Given the description of an element on the screen output the (x, y) to click on. 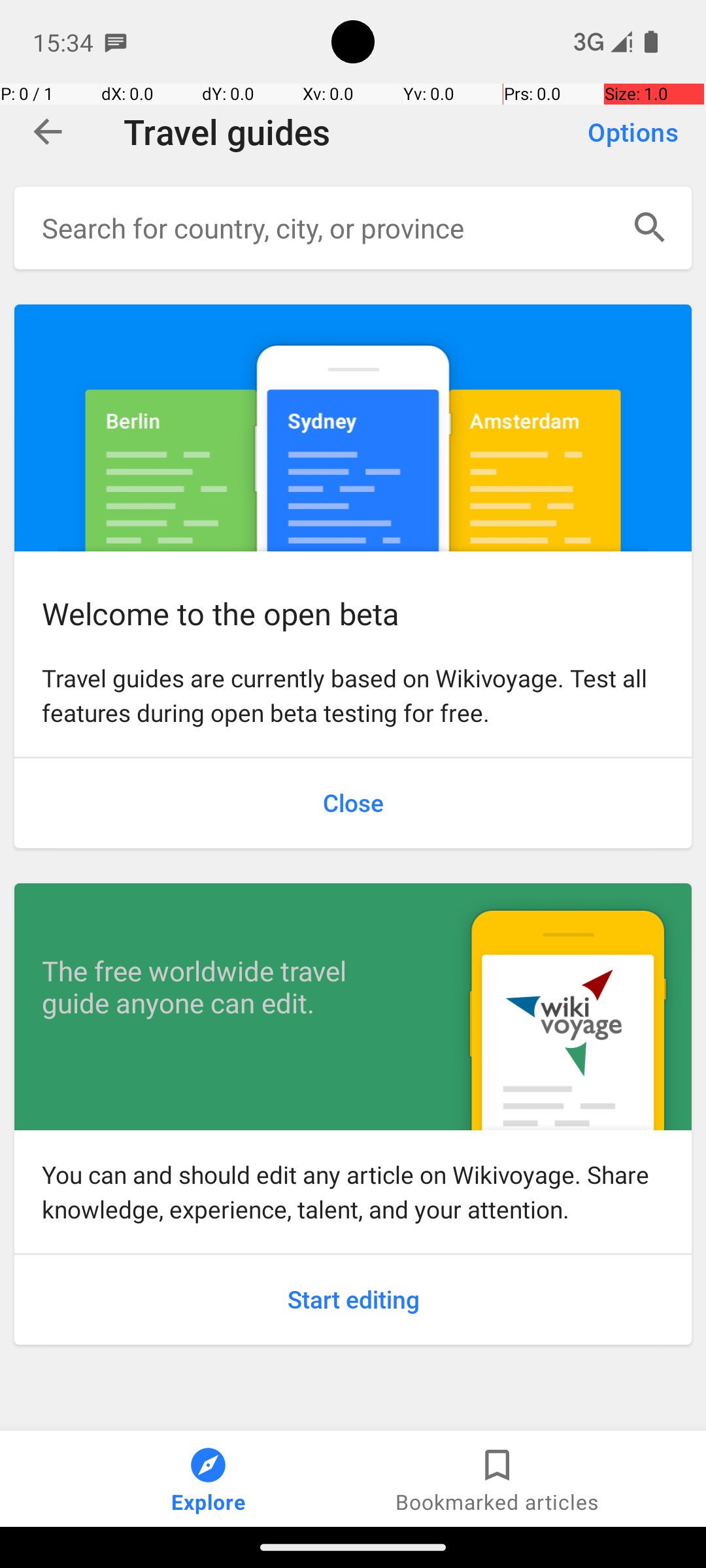
Travel guides Element type: android.widget.TextView (341, 131)
Options Element type: android.widget.TextView (633, 131)
Search for country, city, or province Element type: android.widget.TextView (324, 227)
Explore Element type: android.widget.FrameLayout (208, 1478)
Bookmarked articles Element type: android.widget.FrameLayout (497, 1478)
Welcome to the open beta Element type: android.widget.ImageView (352, 427)
Travel guides are currently based on Wikivoyage. Test all features during open beta testing for free. Element type: android.widget.TextView (352, 695)
The free worldwide travel guide anyone can edit. Element type: android.widget.TextView (225, 986)
You can and should edit any article on Wikivoyage. Share knowledge, experience, talent, and your attention. Element type: android.widget.TextView (352, 1191)
Start editing Element type: android.widget.TextView (352, 1299)
